Given the description of an element on the screen output the (x, y) to click on. 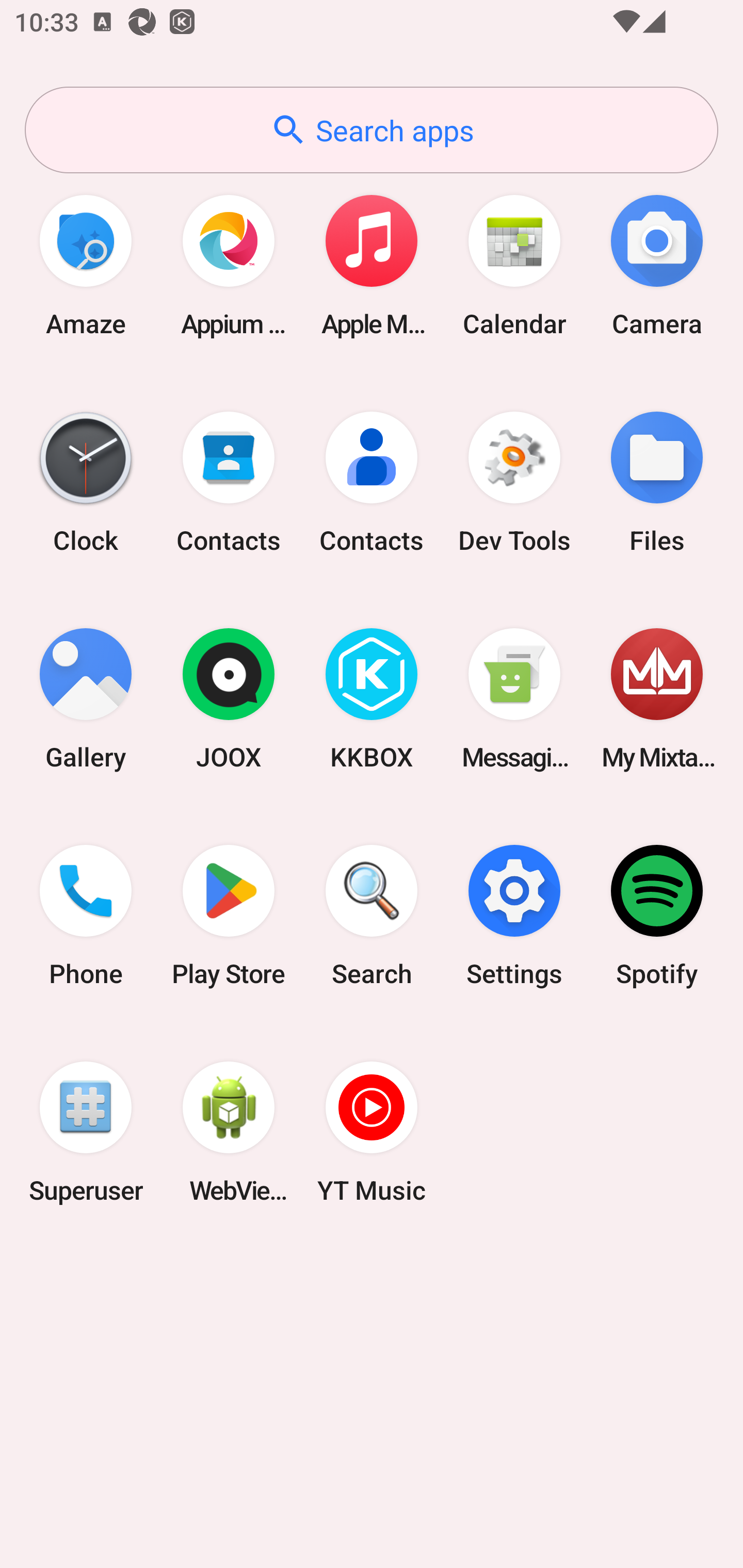
  Search apps (371, 130)
Amaze (85, 264)
Appium Settings (228, 264)
Apple Music (371, 264)
Calendar (514, 264)
Camera (656, 264)
Clock (85, 482)
Contacts (228, 482)
Contacts (371, 482)
Dev Tools (514, 482)
Files (656, 482)
Gallery (85, 699)
JOOX (228, 699)
KKBOX (371, 699)
Messaging (514, 699)
My Mixtapez (656, 699)
Phone (85, 915)
Play Store (228, 915)
Search (371, 915)
Settings (514, 915)
Spotify (656, 915)
Superuser (85, 1131)
WebView Browser Tester (228, 1131)
YT Music (371, 1131)
